Given the description of an element on the screen output the (x, y) to click on. 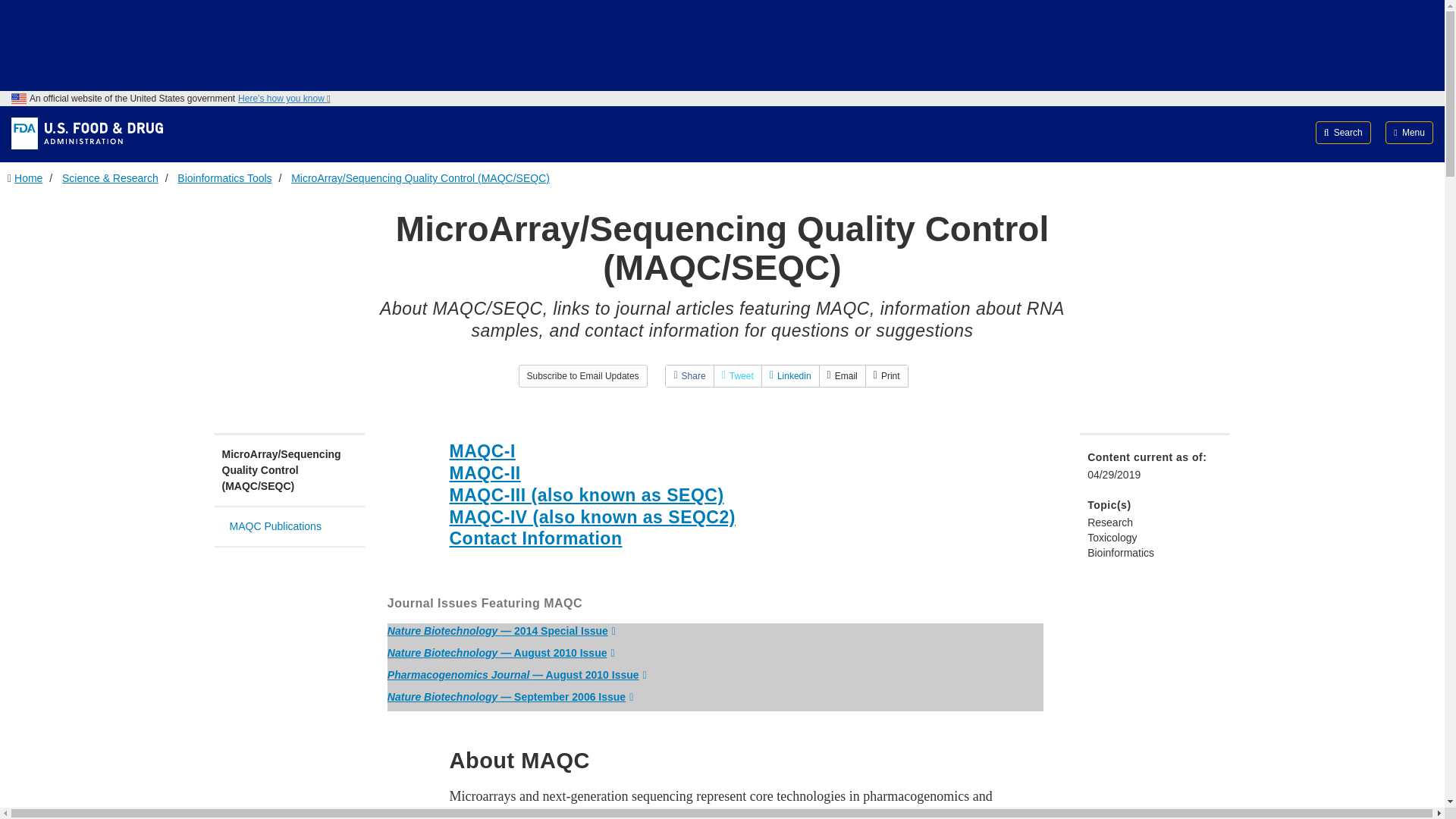
Print this page (886, 375)
  Search (1343, 132)
  Menu (1409, 132)
